Given the description of an element on the screen output the (x, y) to click on. 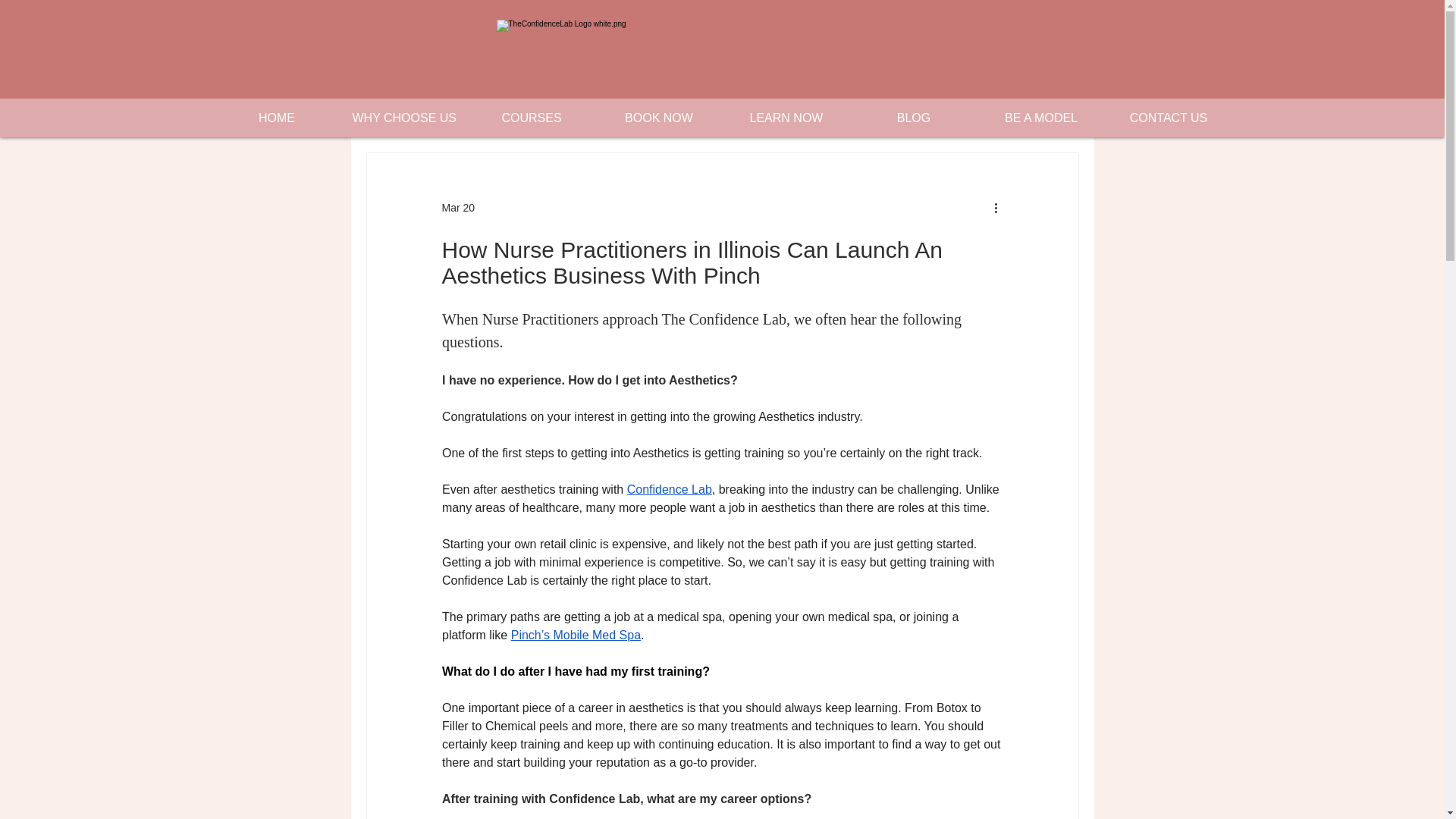
COURSES (530, 117)
WHY CHOOSE US (403, 117)
CONTACT US (1167, 117)
Mar 20 (457, 207)
HOME (275, 117)
Confidence Lab (668, 489)
BOOK NOW (658, 117)
BE A MODEL (1039, 117)
BLOG (912, 117)
